Given the description of an element on the screen output the (x, y) to click on. 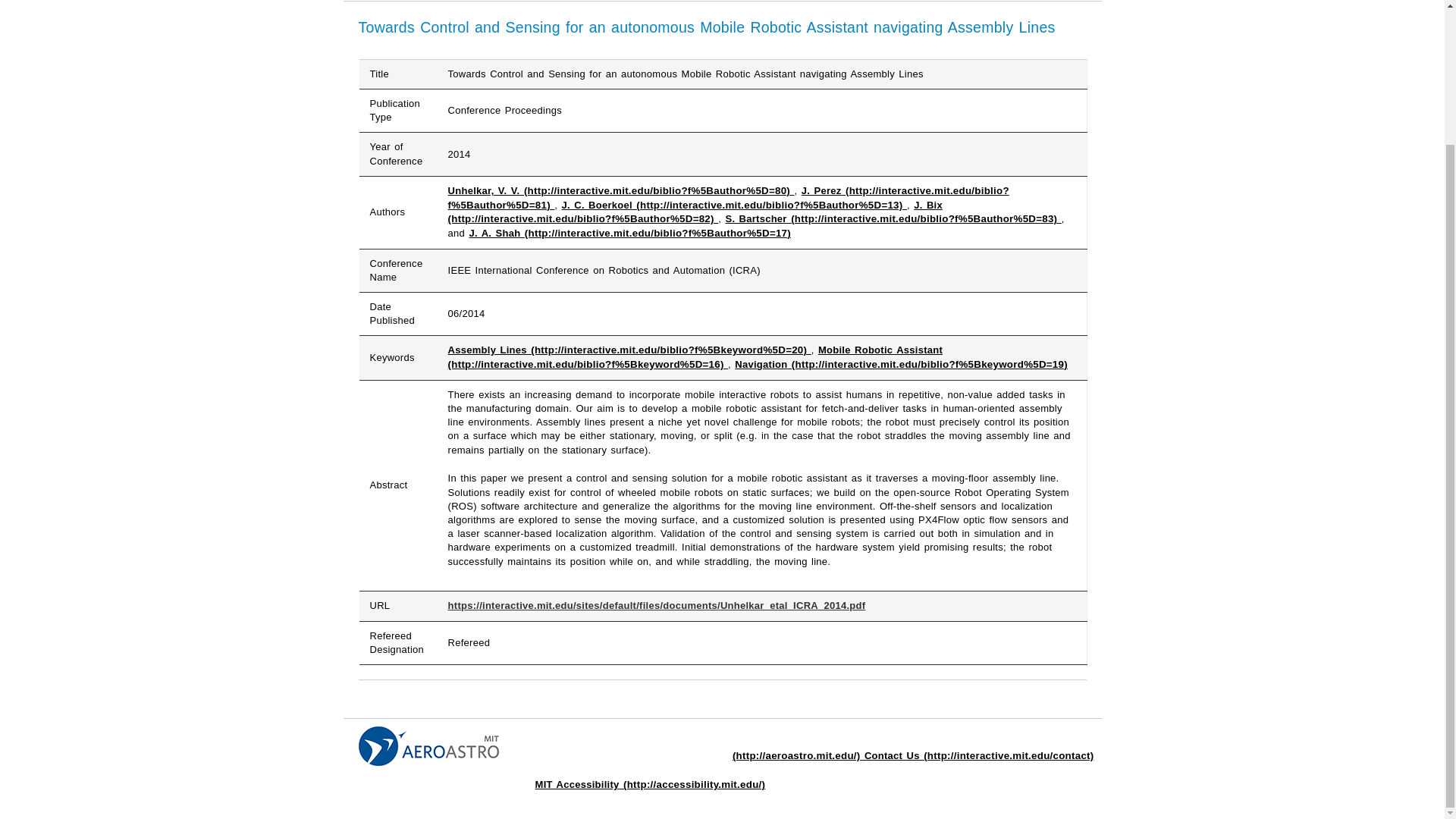
Unhelkar, V. V. (621, 190)
Assembly Lines (629, 349)
J. Bix (695, 212)
J. C. Boerkoel (734, 204)
Mobile Robotic Assistant (695, 356)
Navigation (901, 364)
J. A. Shah (629, 233)
J. Perez (728, 197)
S. Bartscher (893, 218)
MIT Accessibility (650, 784)
Contact Us (979, 755)
